Given the description of an element on the screen output the (x, y) to click on. 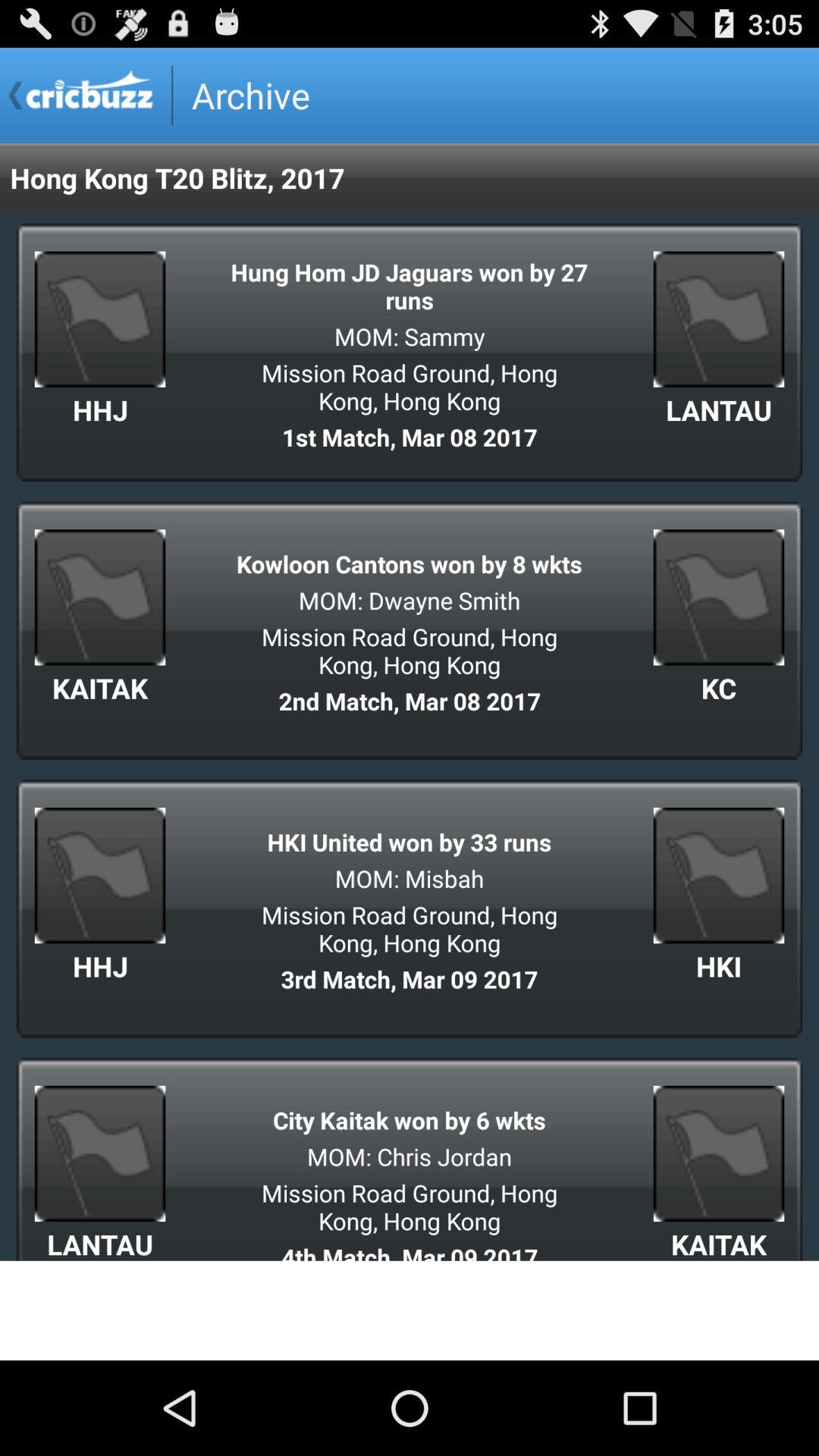
jump to kc icon (718, 687)
